Given the description of an element on the screen output the (x, y) to click on. 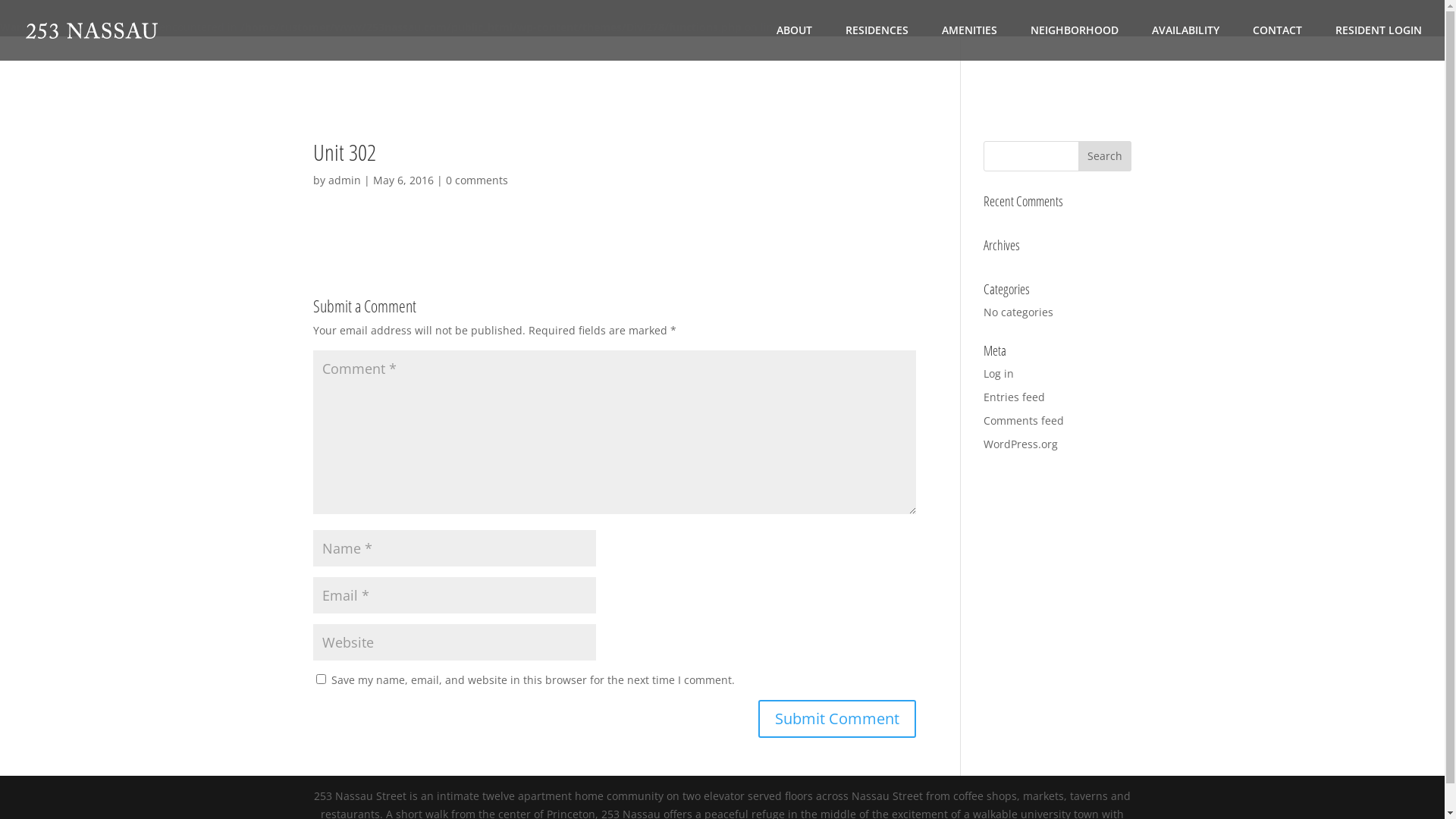
AVAILABILITY Element type: text (1185, 42)
Search Element type: text (1104, 156)
Log in Element type: text (998, 373)
AMENITIES Element type: text (969, 42)
Entries feed Element type: text (1013, 396)
0 comments Element type: text (476, 179)
admin Element type: text (343, 179)
WordPress.org Element type: text (1020, 443)
Submit Comment Element type: text (837, 718)
RESIDENT LOGIN Element type: text (1378, 42)
CONTACT Element type: text (1277, 42)
Comments feed Element type: text (1023, 420)
NEIGHBORHOOD Element type: text (1074, 42)
ABOUT Element type: text (794, 42)
RESIDENCES Element type: text (876, 42)
